Given the description of an element on the screen output the (x, y) to click on. 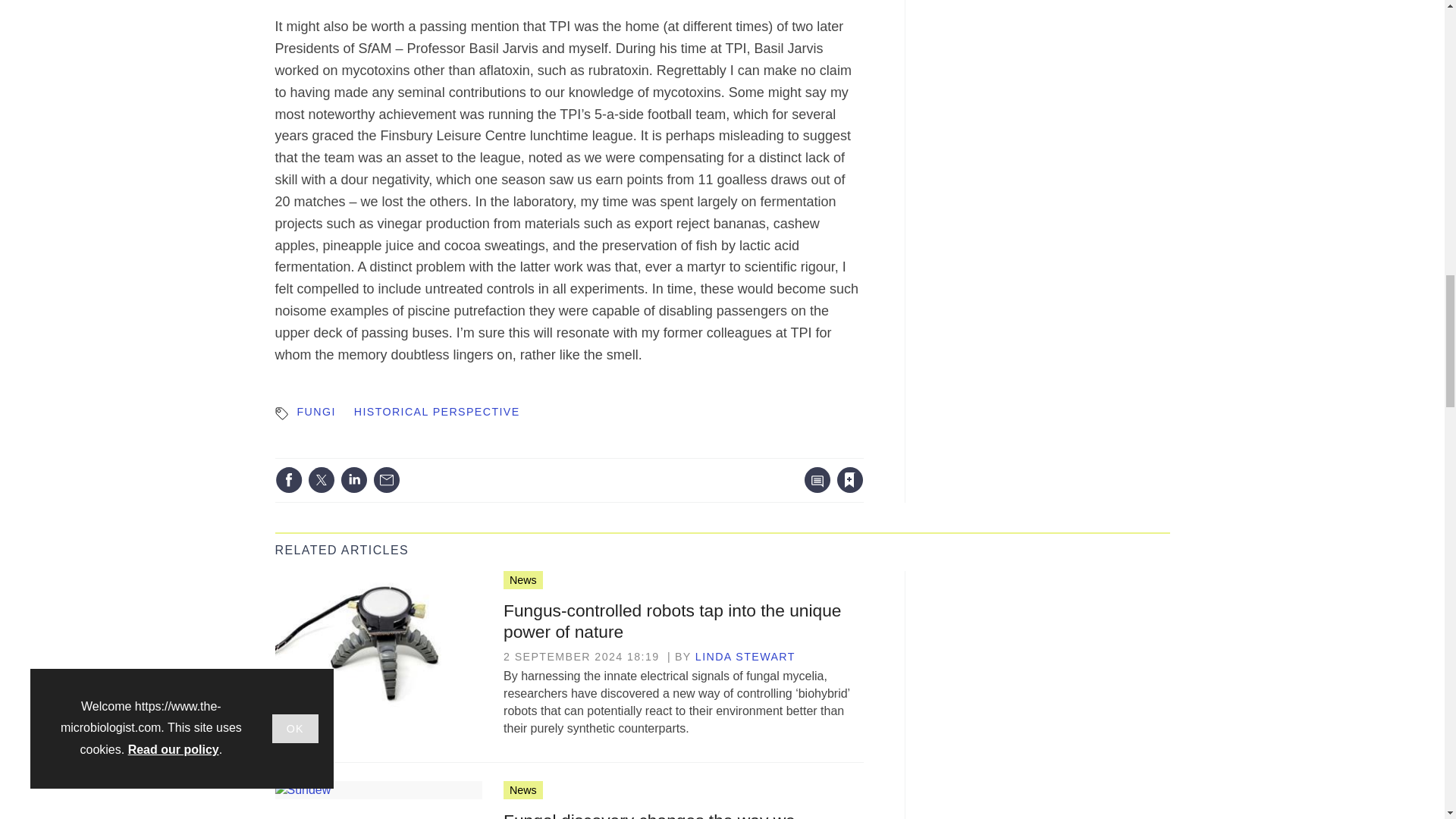
Share this on Linked in (352, 479)
No comments (812, 488)
Email this article (386, 479)
Share this on Facebook (288, 479)
Share this on Twitter (320, 479)
